Given the description of an element on the screen output the (x, y) to click on. 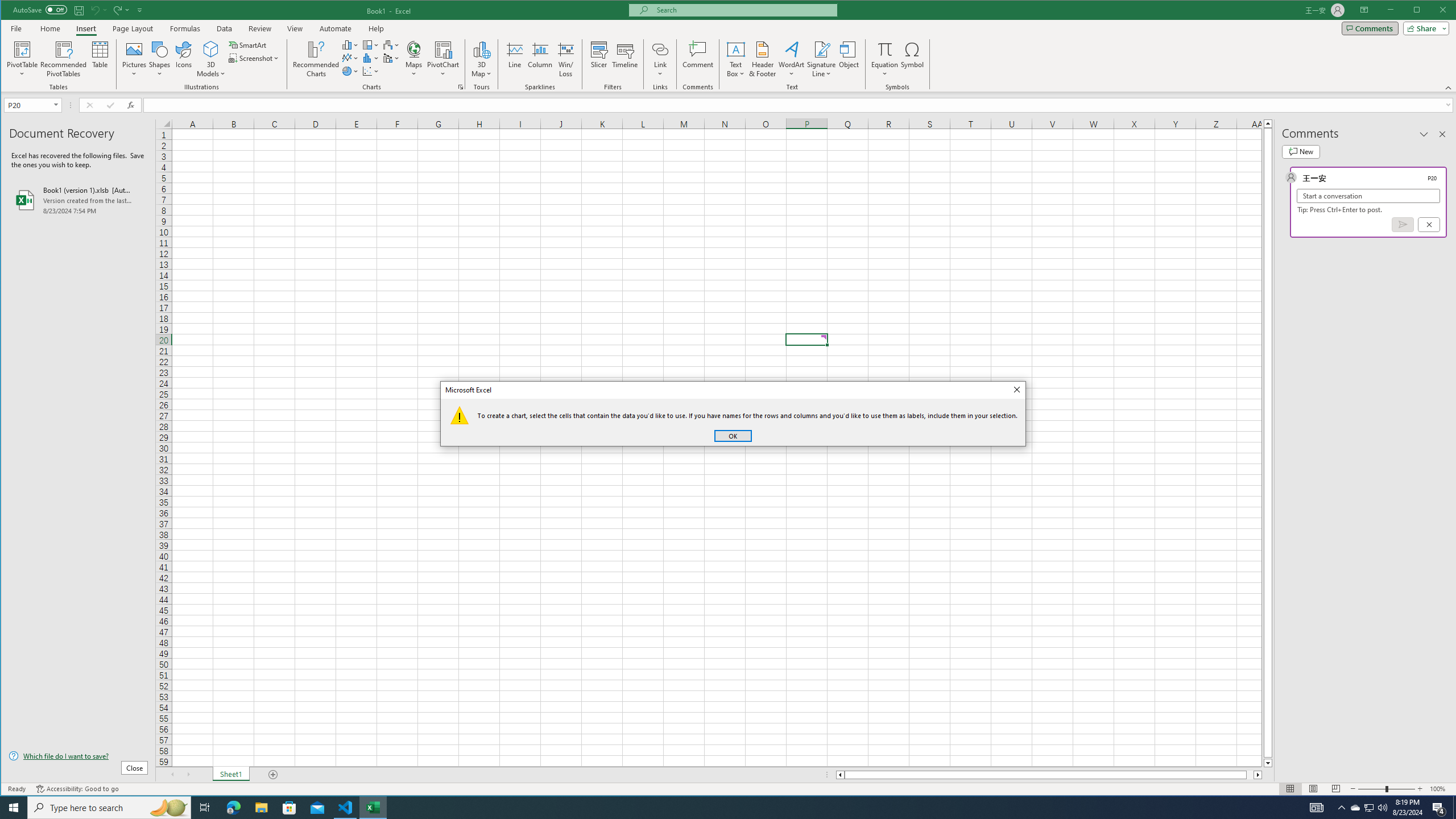
Recommended PivotTables (63, 59)
Icons (183, 59)
